Given the description of an element on the screen output the (x, y) to click on. 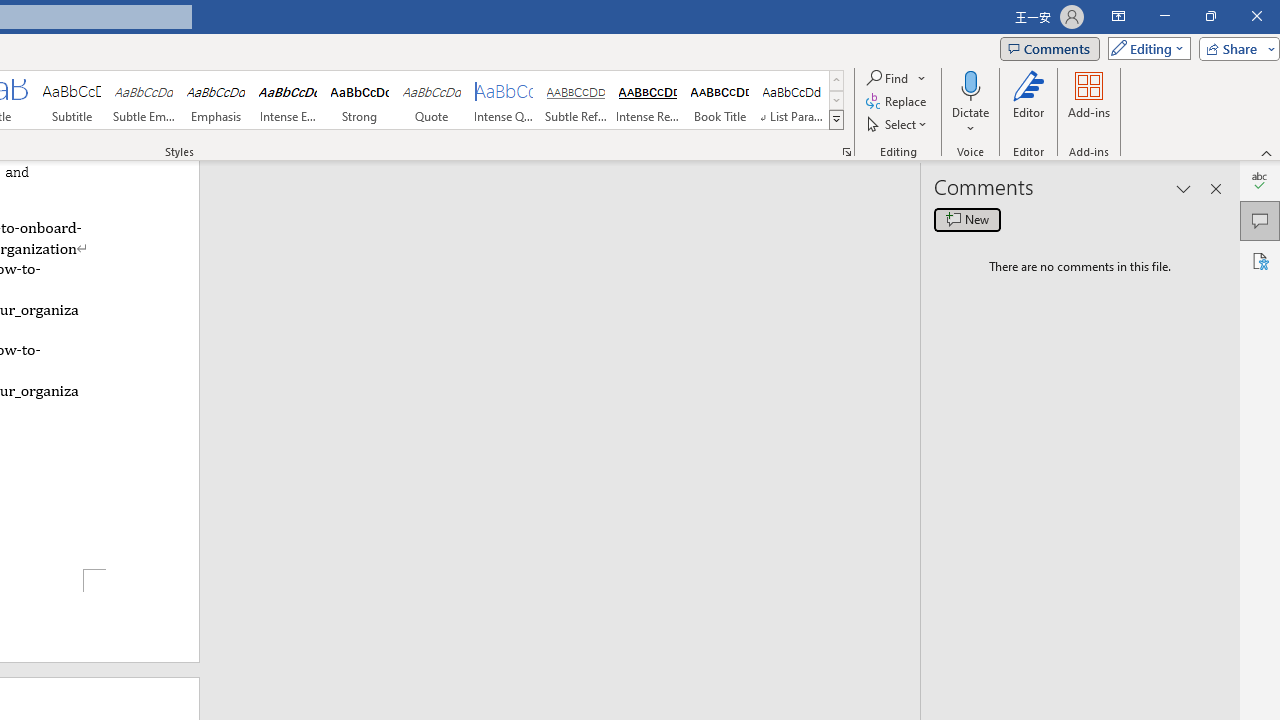
Intense Quote (504, 100)
Styles (836, 120)
Select (898, 124)
Intense Reference (647, 100)
Styles... (846, 151)
Accessibility (1260, 260)
Book Title (719, 100)
Replace... (897, 101)
